Given the description of an element on the screen output the (x, y) to click on. 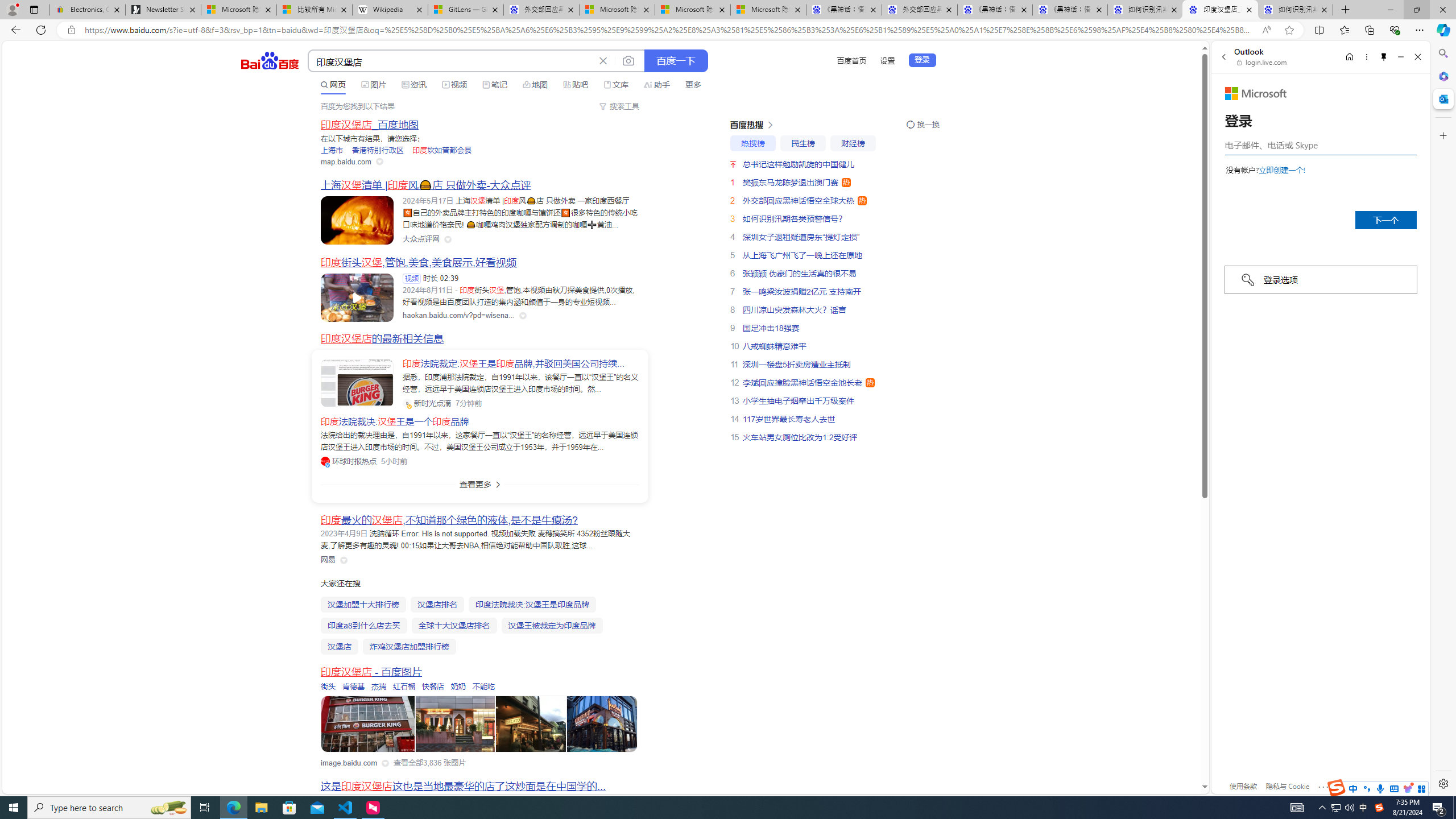
To get missing image descriptions, open the context menu. (368, 724)
Microsoft (1255, 93)
